Given the description of an element on the screen output the (x, y) to click on. 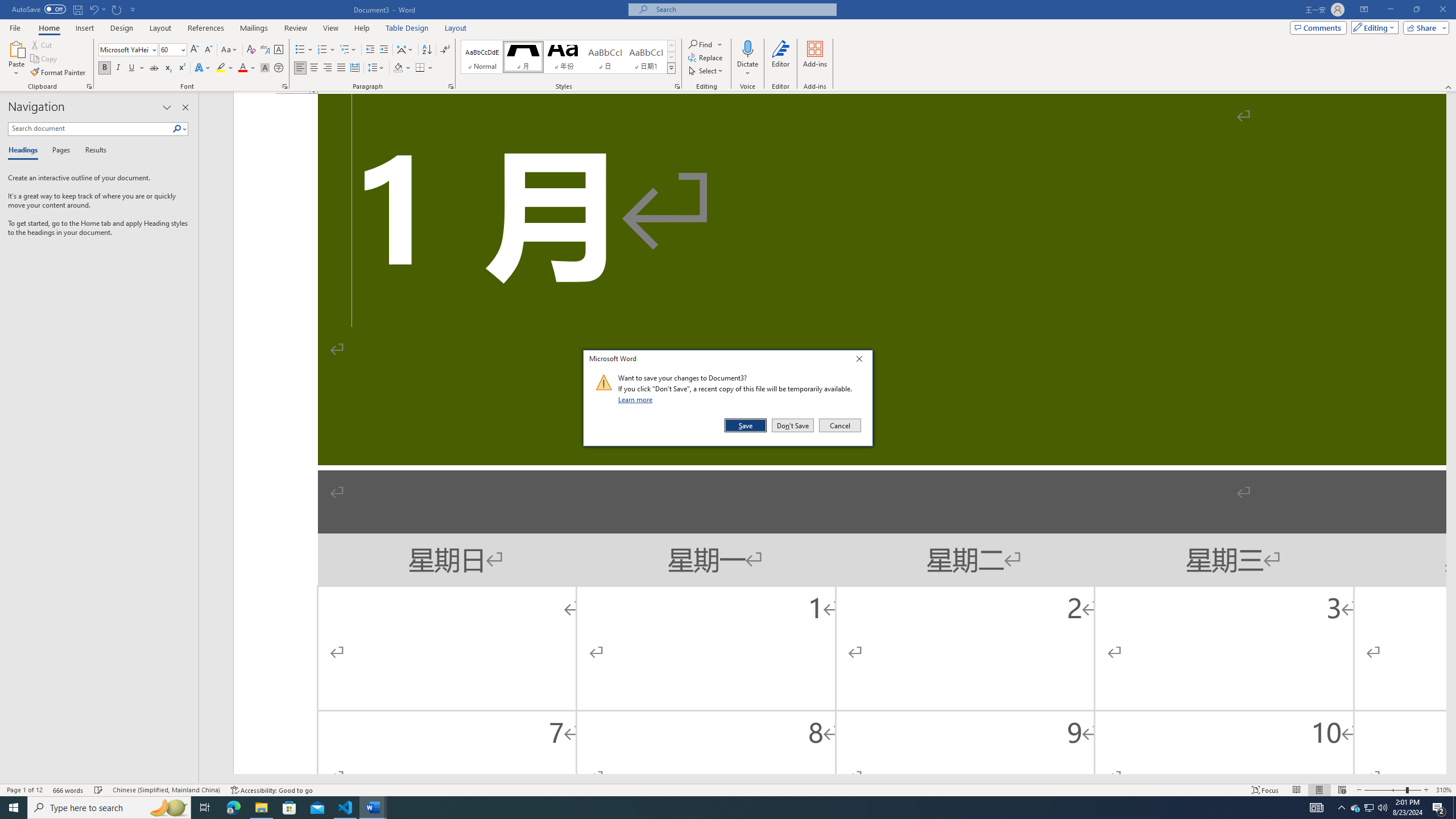
Subscript (167, 67)
Align Right (327, 67)
Line and Paragraph Spacing (376, 67)
Superscript (180, 67)
Zoom (1392, 790)
Table Design (407, 28)
Microsoft Edge (233, 807)
Undo Increase Indent (92, 9)
Text Effects and Typography (202, 67)
Spelling and Grammar Check Checking (98, 790)
